Given the description of an element on the screen output the (x, y) to click on. 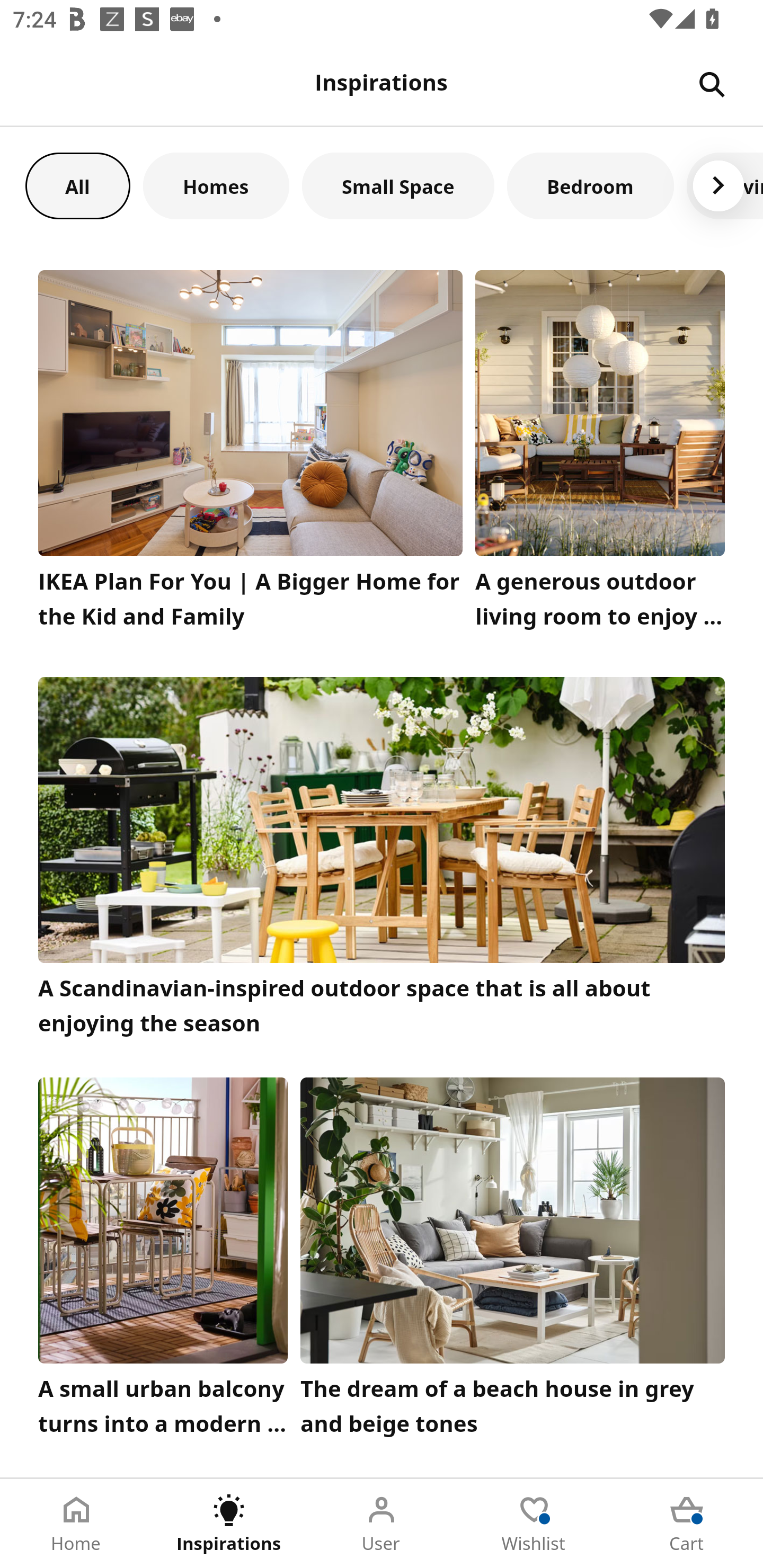
All (77, 185)
Homes (216, 185)
Small Space (398, 185)
Bedroom (590, 185)
The dream of a beach house in grey and beige tones (512, 1261)
Home
Tab 1 of 5 (76, 1522)
Inspirations
Tab 2 of 5 (228, 1522)
User
Tab 3 of 5 (381, 1522)
Wishlist
Tab 4 of 5 (533, 1522)
Cart
Tab 5 of 5 (686, 1522)
